Given the description of an element on the screen output the (x, y) to click on. 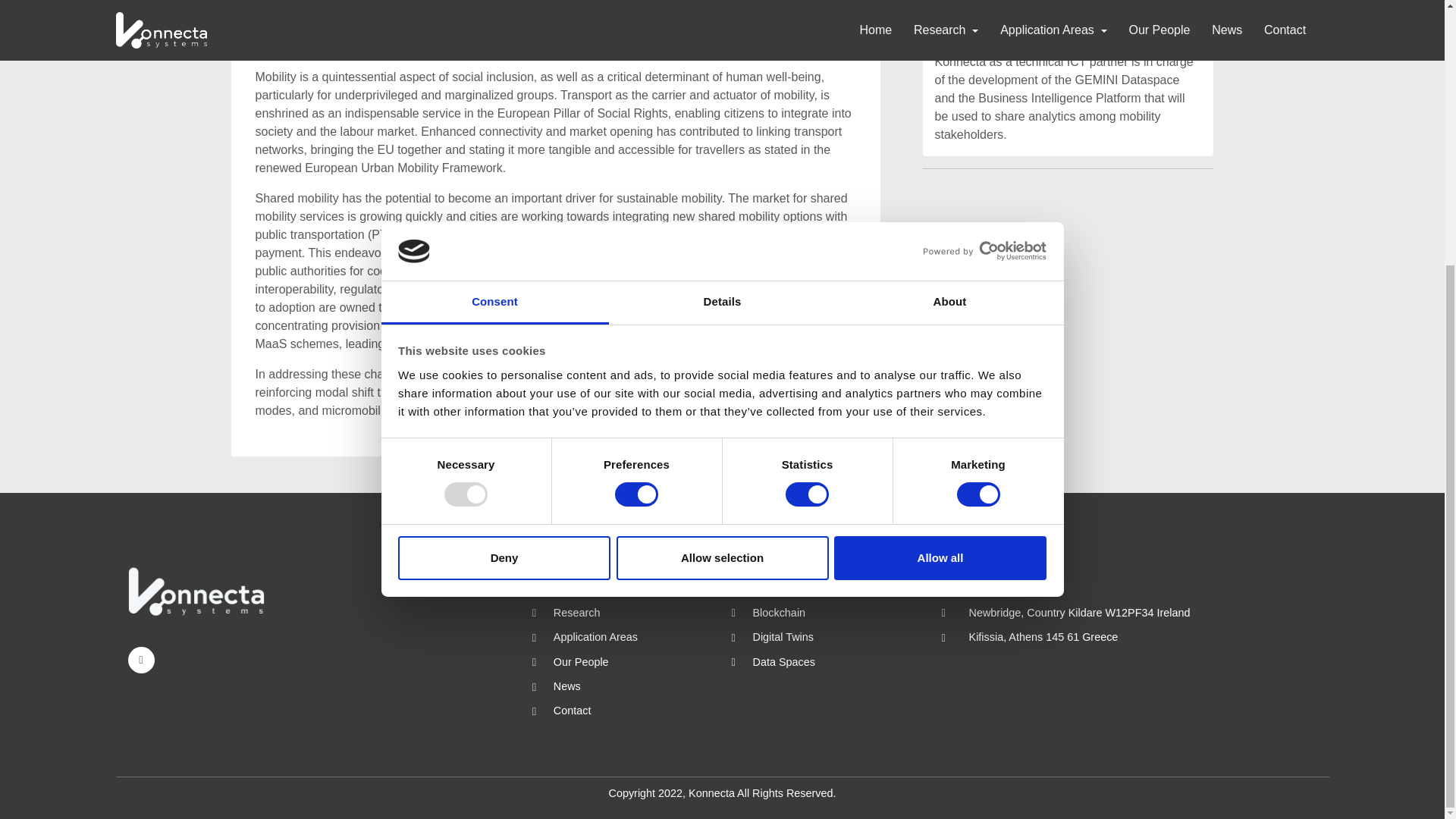
Allow selection (721, 175)
Allow all (940, 175)
Deny (503, 175)
